Given the description of an element on the screen output the (x, y) to click on. 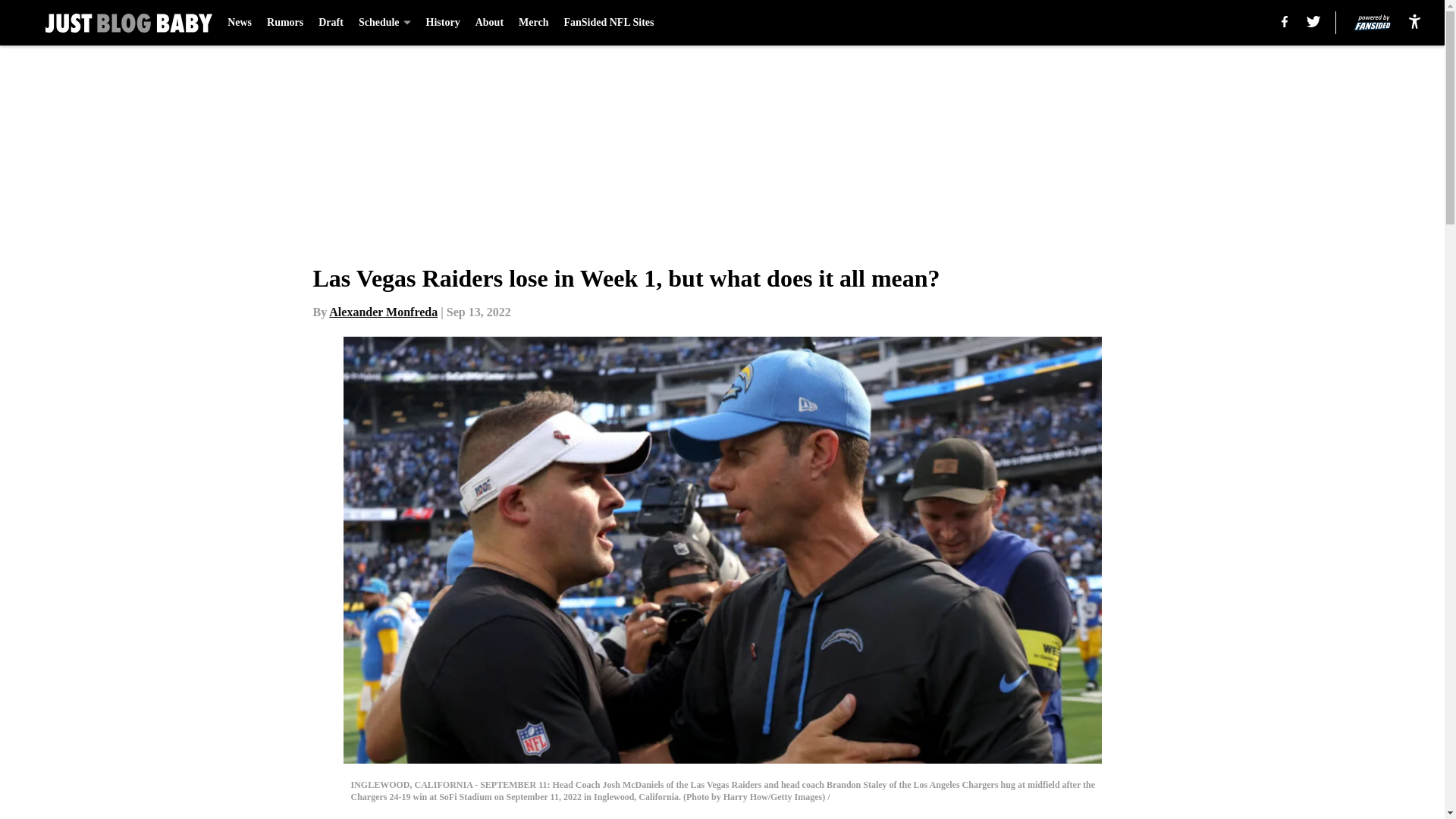
Alexander Monfreda (383, 311)
News (239, 22)
Merch (533, 22)
About (489, 22)
History (443, 22)
Rumors (284, 22)
Draft (330, 22)
FanSided NFL Sites (608, 22)
